Given the description of an element on the screen output the (x, y) to click on. 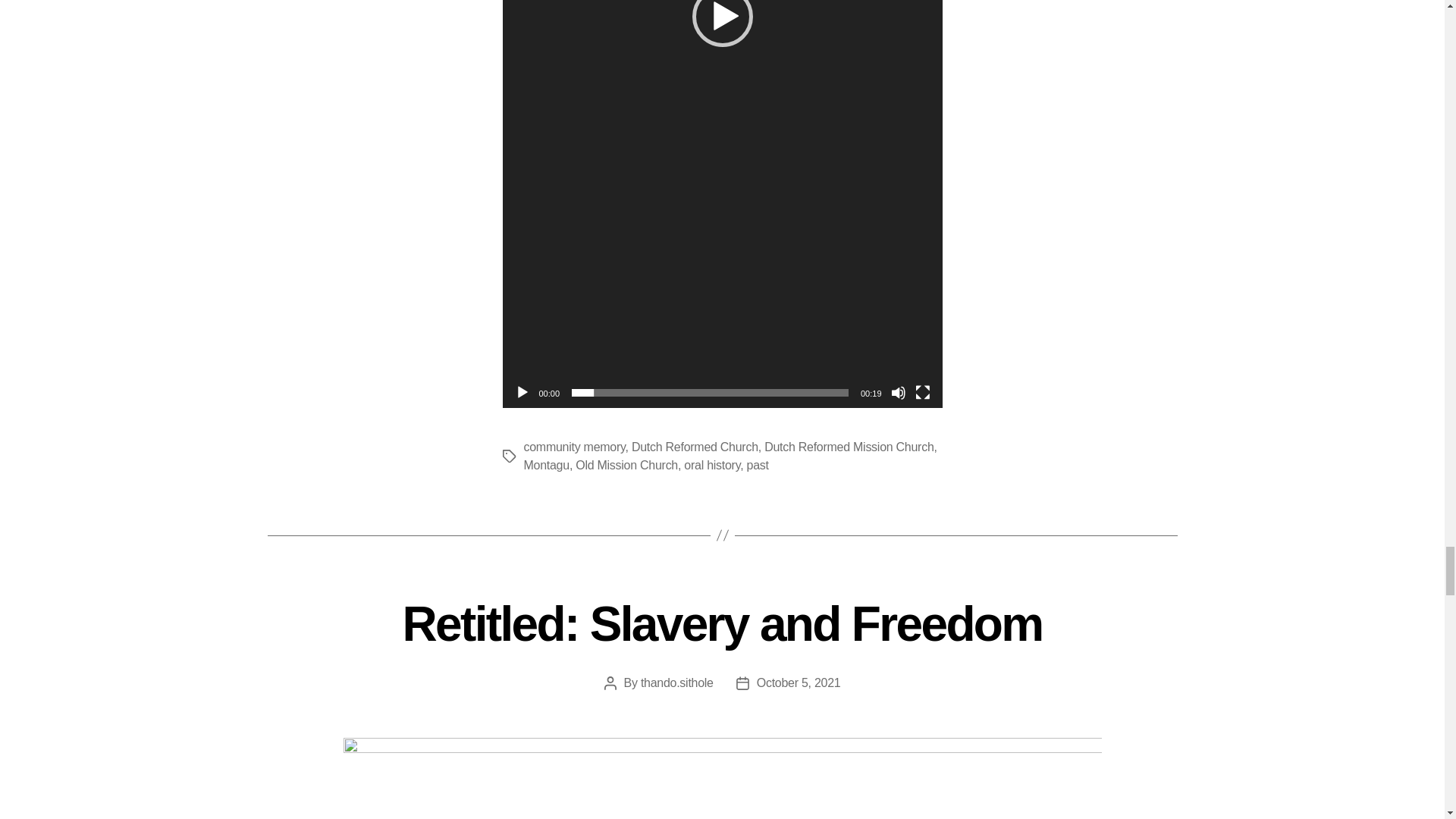
Fullscreen (922, 392)
Mute (897, 392)
Play (521, 392)
